Given the description of an element on the screen output the (x, y) to click on. 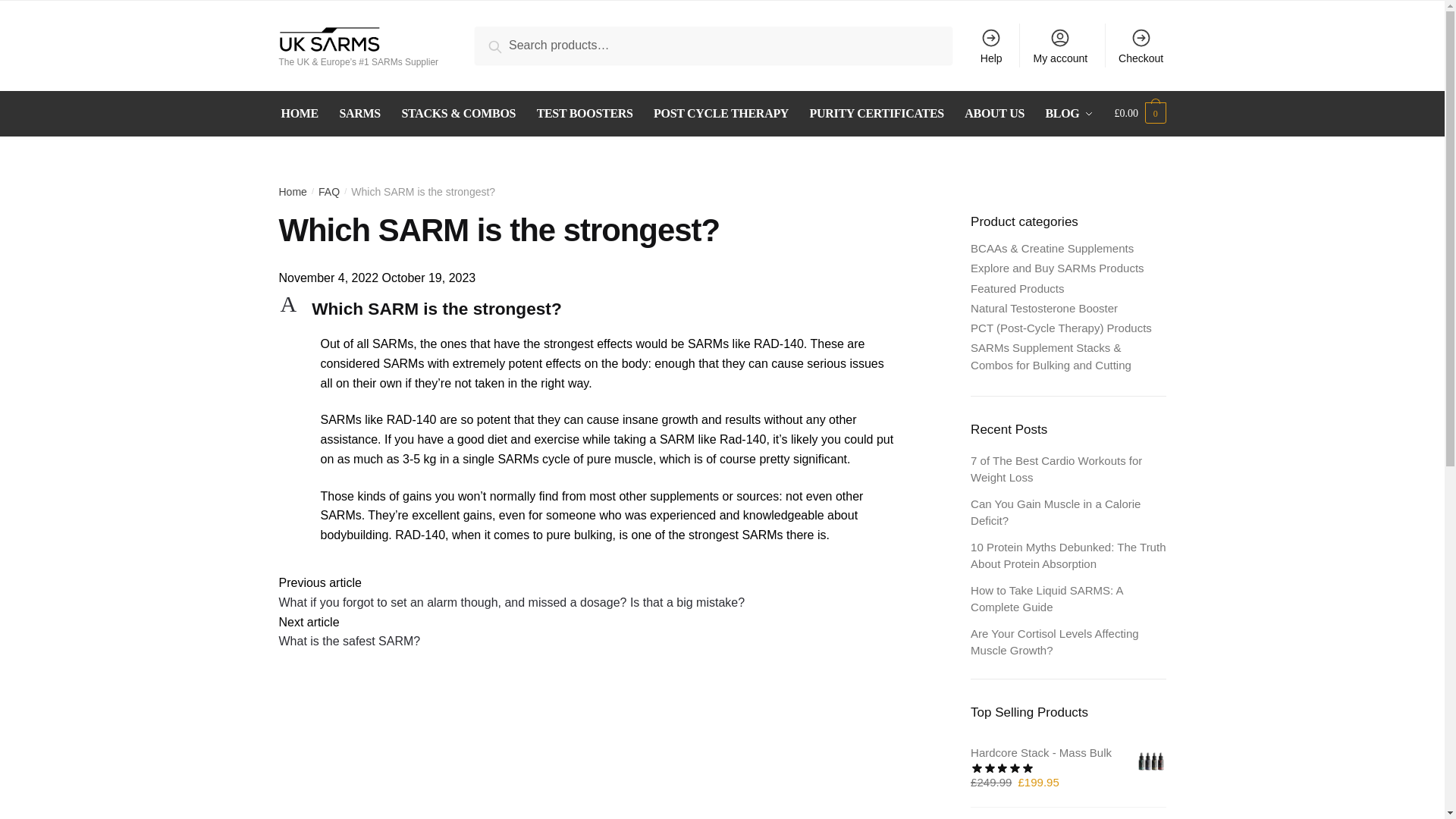
View your shopping cart (1140, 113)
What is the safest SARM? (349, 640)
My account (1059, 45)
Natural Testosterone Booster (1044, 308)
Featured Products (598, 308)
7 of The Best Cardio Workouts for Weight Loss (1017, 287)
Search (1056, 469)
